Given the description of an element on the screen output the (x, y) to click on. 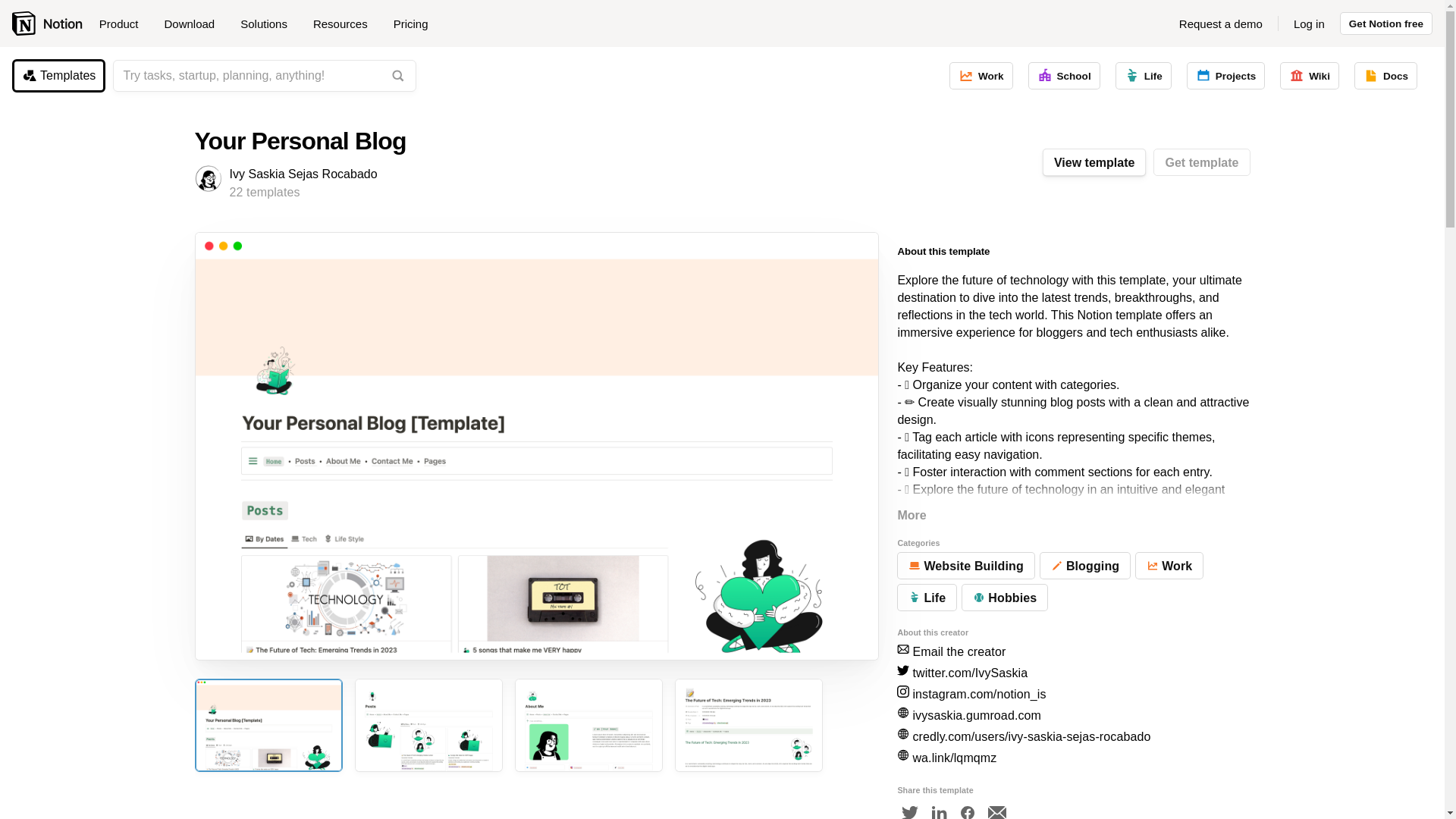
Product (124, 23)
Solutions (268, 23)
Resources (345, 23)
Pricing (410, 23)
Download (193, 23)
Request a demo (1220, 23)
